Given the description of an element on the screen output the (x, y) to click on. 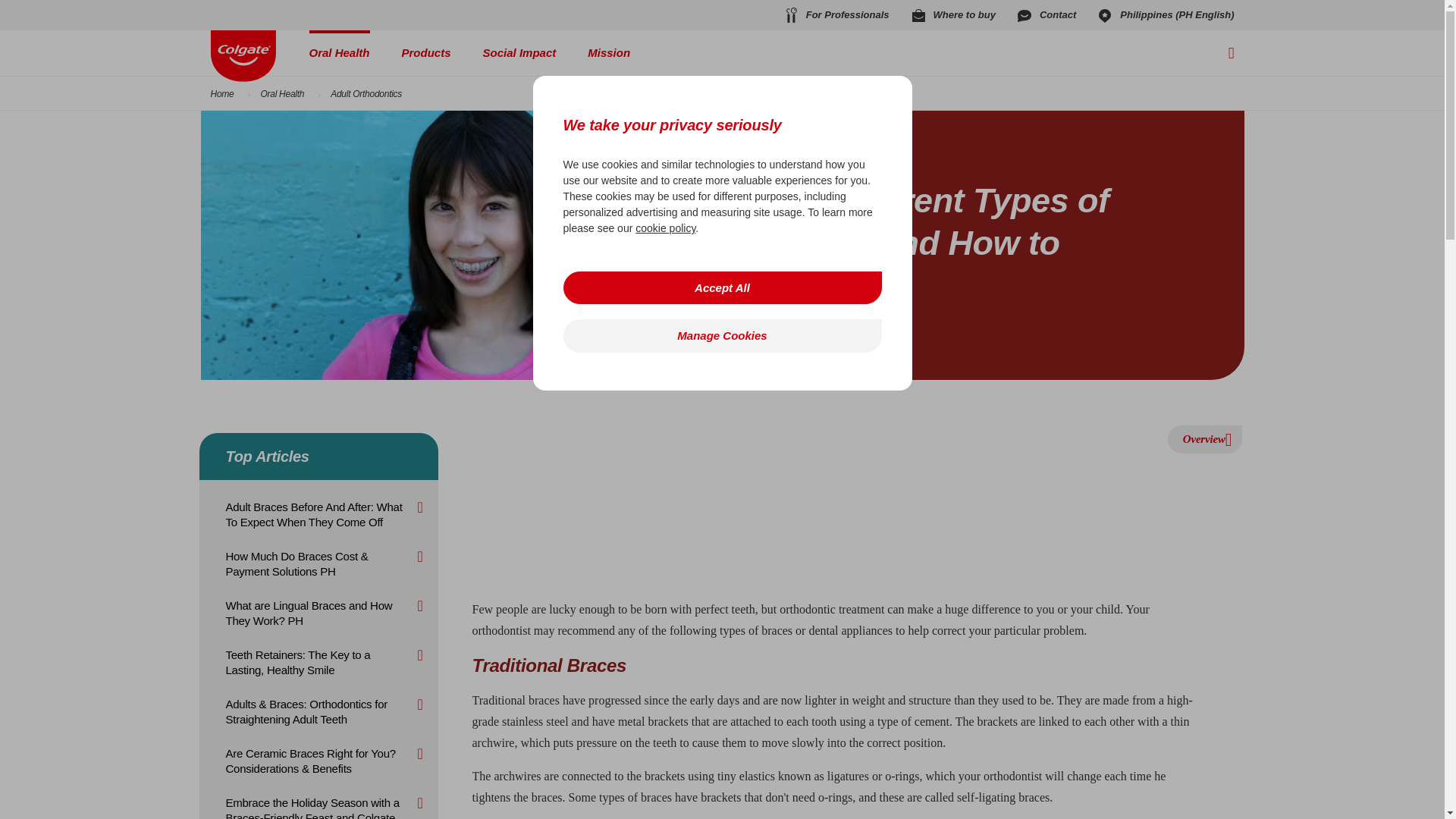
Products (426, 52)
Oral Health (338, 52)
Social Impact (519, 52)
Contact icon (1023, 15)
For Professionals icon (790, 15)
Mission (609, 52)
Location icon (1104, 15)
Accept All (721, 287)
Manage Cookies (721, 335)
For Professionals (835, 15)
Contact (1044, 14)
Where to buy icon (917, 15)
home (243, 55)
Where to buy (951, 14)
cookie policy (664, 227)
